Given the description of an element on the screen output the (x, y) to click on. 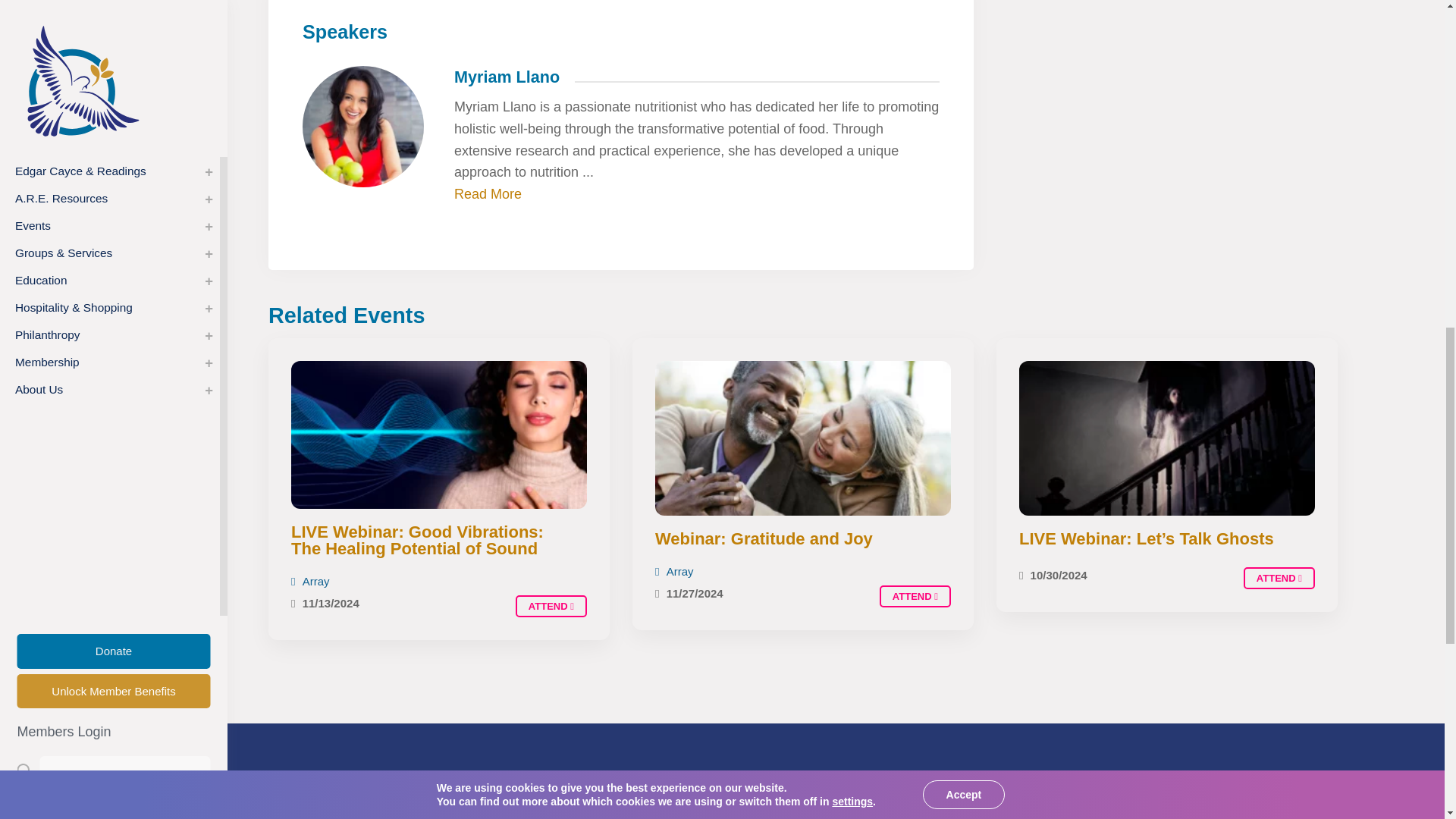
Webinar: Gratitude and Joy (914, 596)
Follow on Pinterest (946, 817)
Follow on Youtube (836, 817)
Follow on X (782, 817)
Follow on Instagram (891, 817)
Follow on Facebook (727, 817)
